Given the description of an element on the screen output the (x, y) to click on. 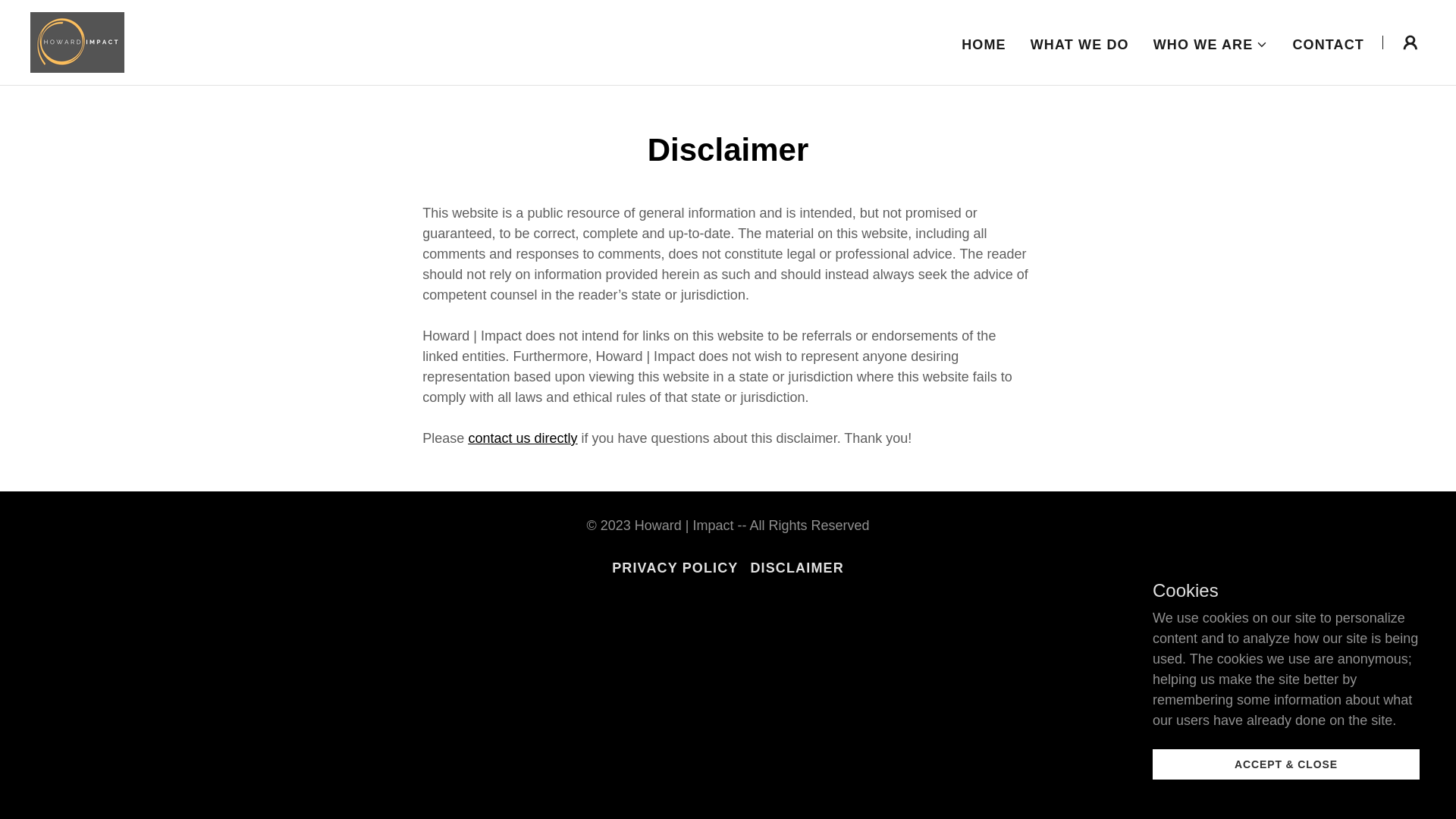
DISCLAIMER (796, 568)
contact us directly (521, 437)
WHAT WE DO (1080, 43)
WHO WE ARE (1210, 44)
CONTACT (1327, 43)
HOME (983, 43)
PRIVACY POLICY (674, 568)
